Given the description of an element on the screen output the (x, y) to click on. 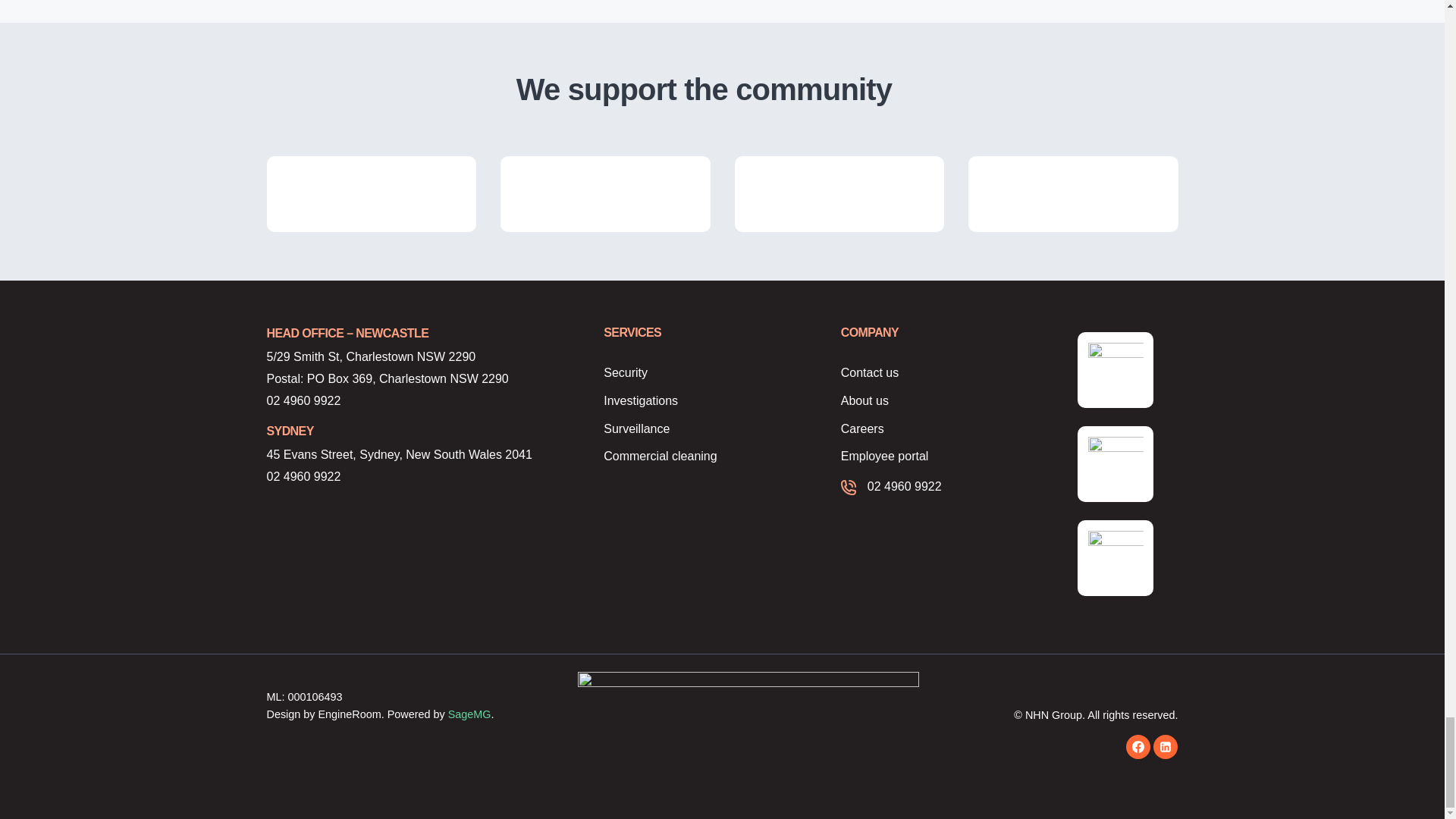
Office (416, 357)
Phone (416, 401)
Postal (416, 379)
